Given the description of an element on the screen output the (x, y) to click on. 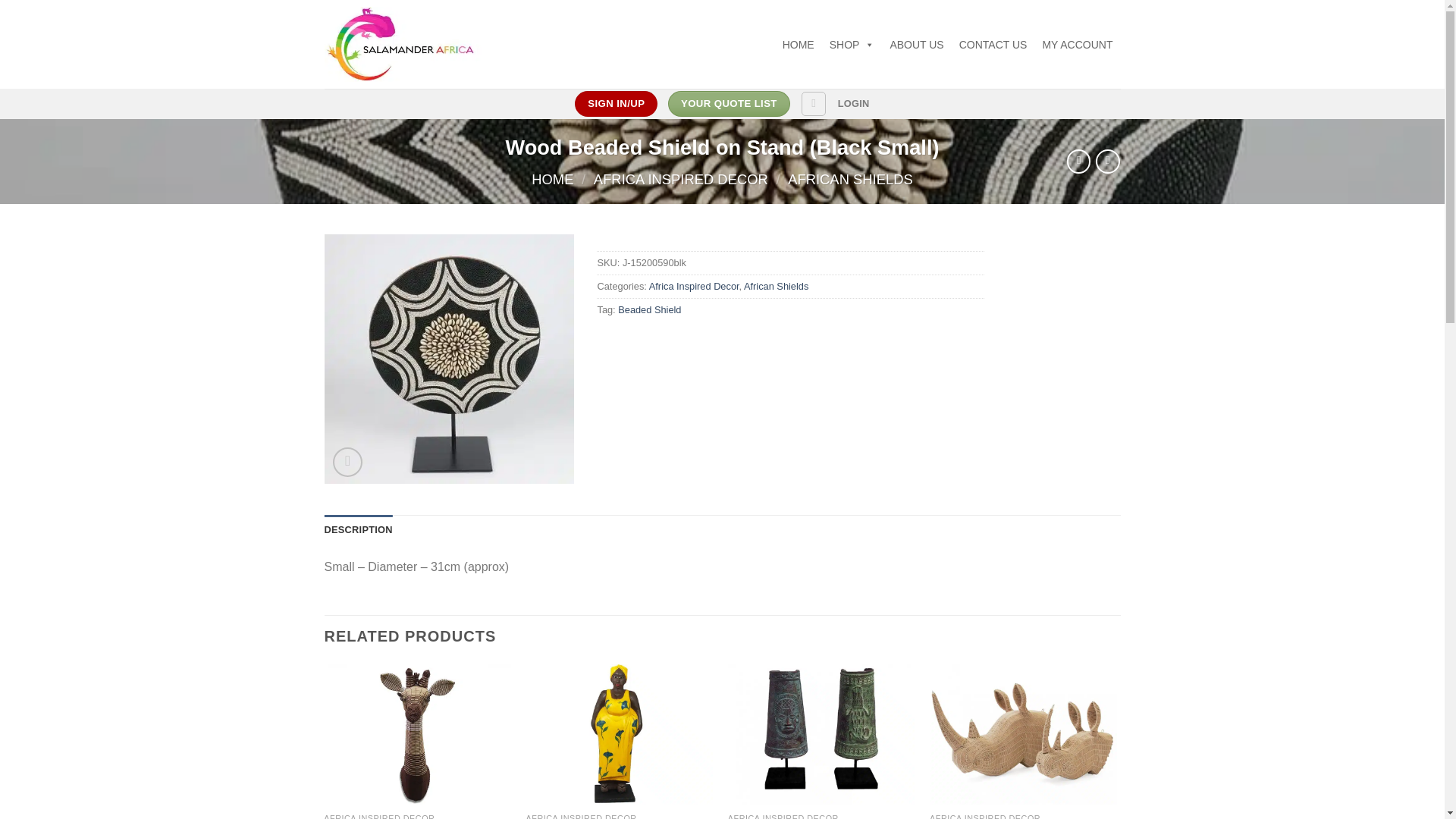
Zoom (347, 461)
HOME (798, 43)
Login (853, 103)
Salamander Africa (402, 43)
SHOP (852, 43)
